Given the description of an element on the screen output the (x, y) to click on. 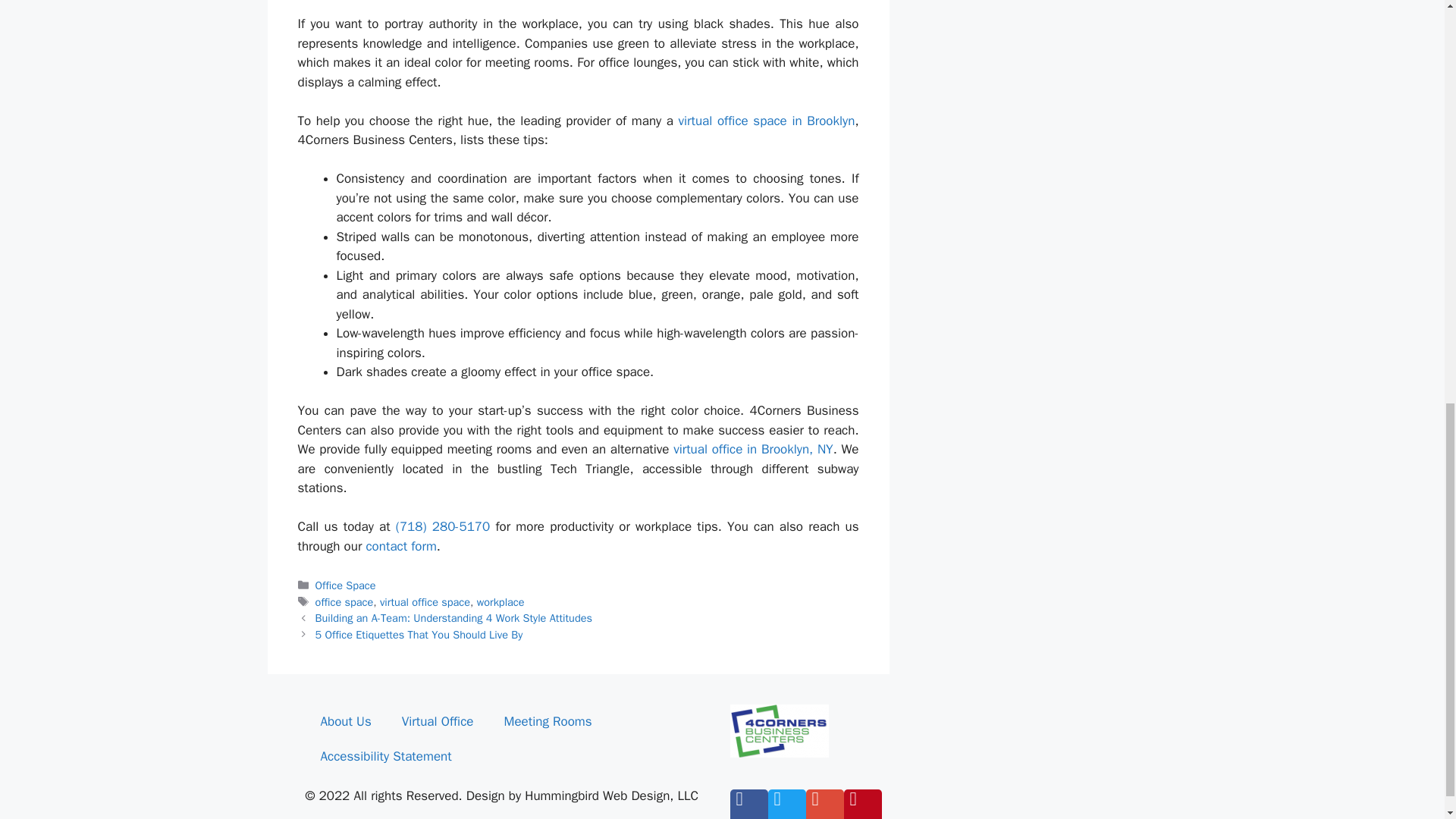
Building an A-Team: Understanding 4 Work Style Attitudes (453, 617)
workplace (500, 602)
virtual office in Brooklyn, NY (752, 449)
Office Space (345, 585)
Previous (453, 617)
virtual office space in Brooklyn (767, 120)
contact form (400, 546)
cropped-4-corners-business-center.png (778, 730)
virtual office space (425, 602)
office space (344, 602)
Next (418, 634)
5 Office Etiquettes That You Should Live By (418, 634)
